Given the description of an element on the screen output the (x, y) to click on. 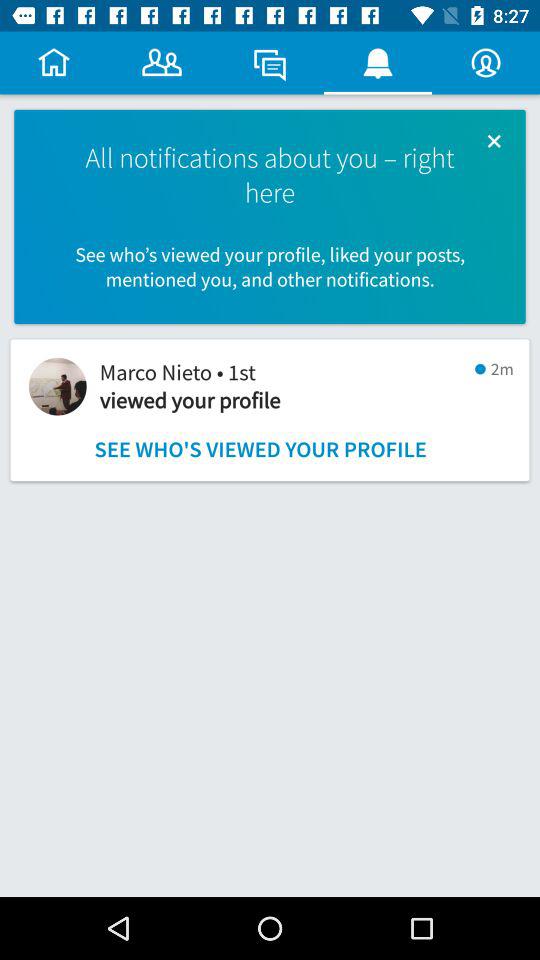
select the item next to the all notifications about icon (493, 140)
